Given the description of an element on the screen output the (x, y) to click on. 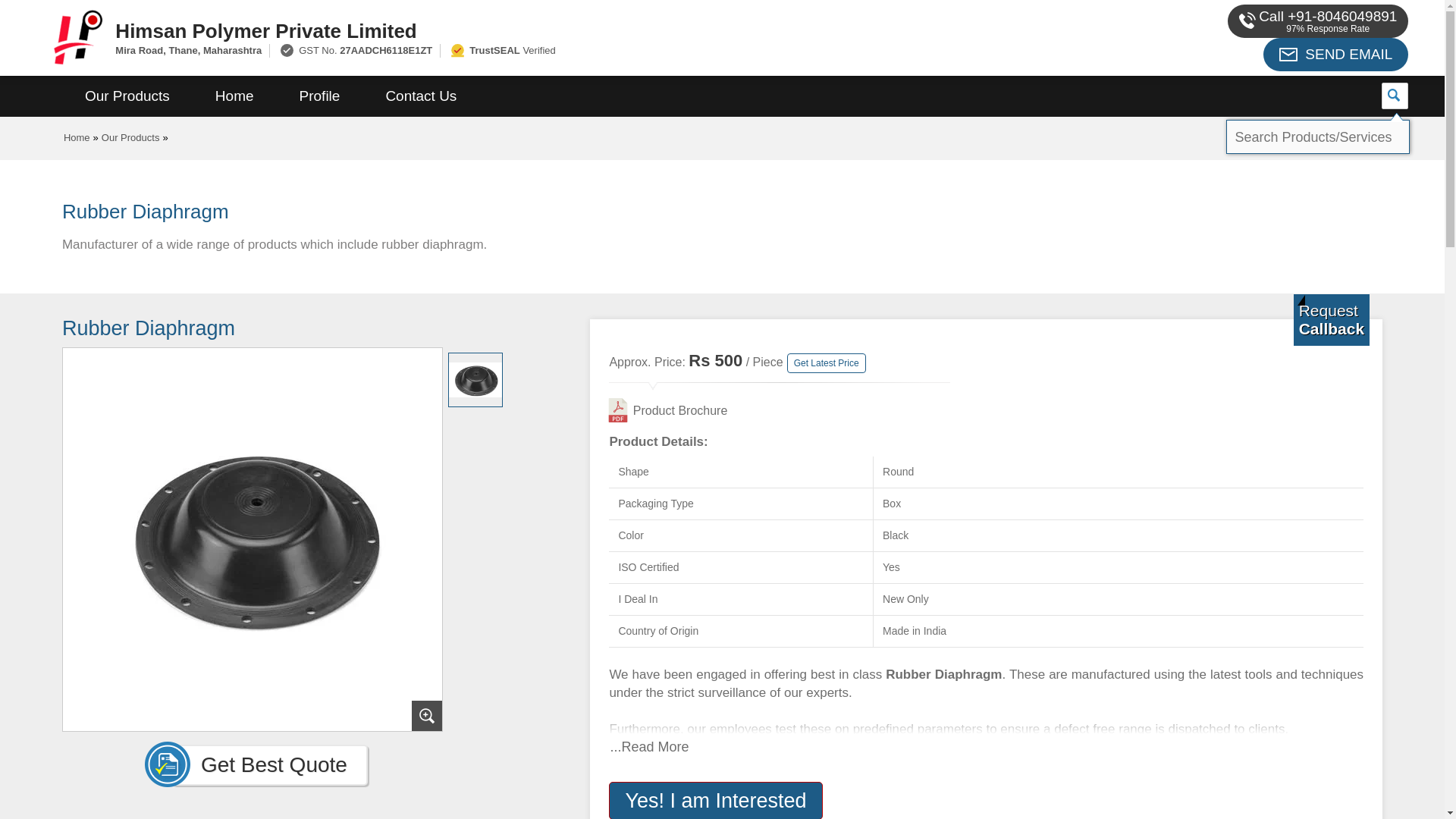
Home (234, 96)
Our Products (130, 137)
Contact Us (420, 96)
Our Products (127, 96)
Home (77, 137)
Profile (319, 96)
Himsan Polymer Private Limited (552, 31)
Get a Call from us (1332, 319)
